Given the description of an element on the screen output the (x, y) to click on. 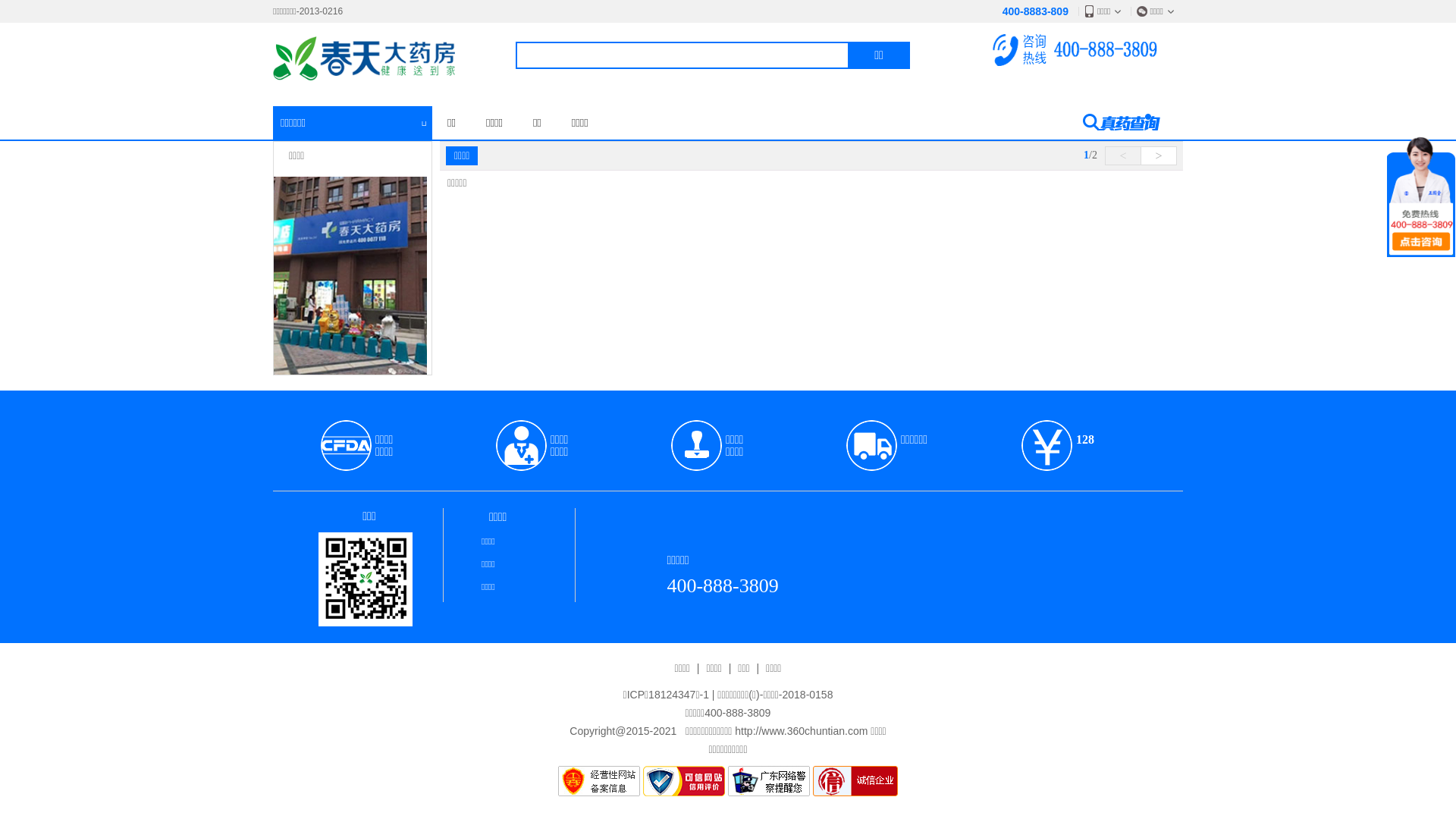
> Element type: text (1158, 155)
< Element type: text (1122, 155)
